Given the description of an element on the screen output the (x, y) to click on. 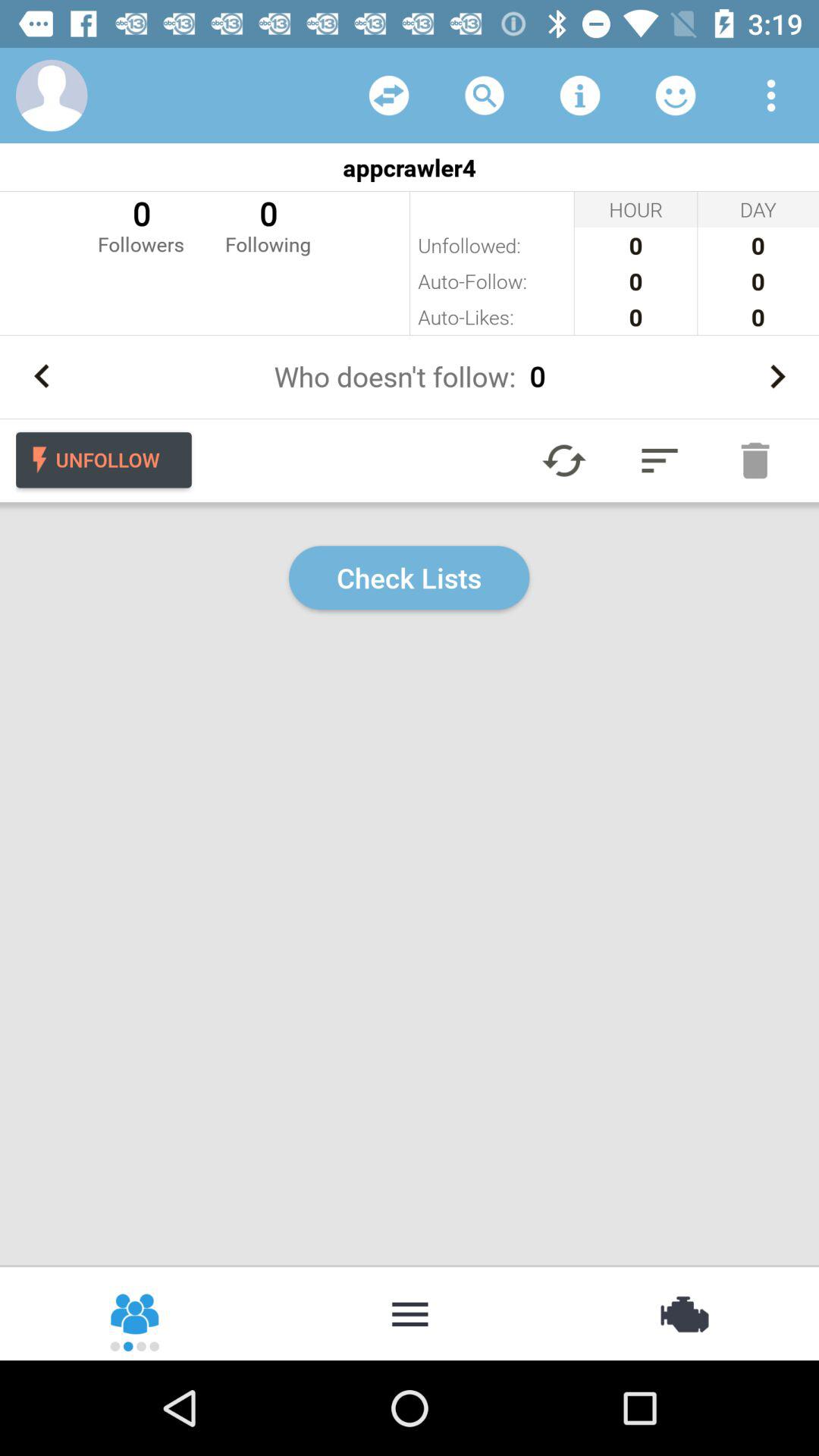
access user profile (51, 95)
